Given the description of an element on the screen output the (x, y) to click on. 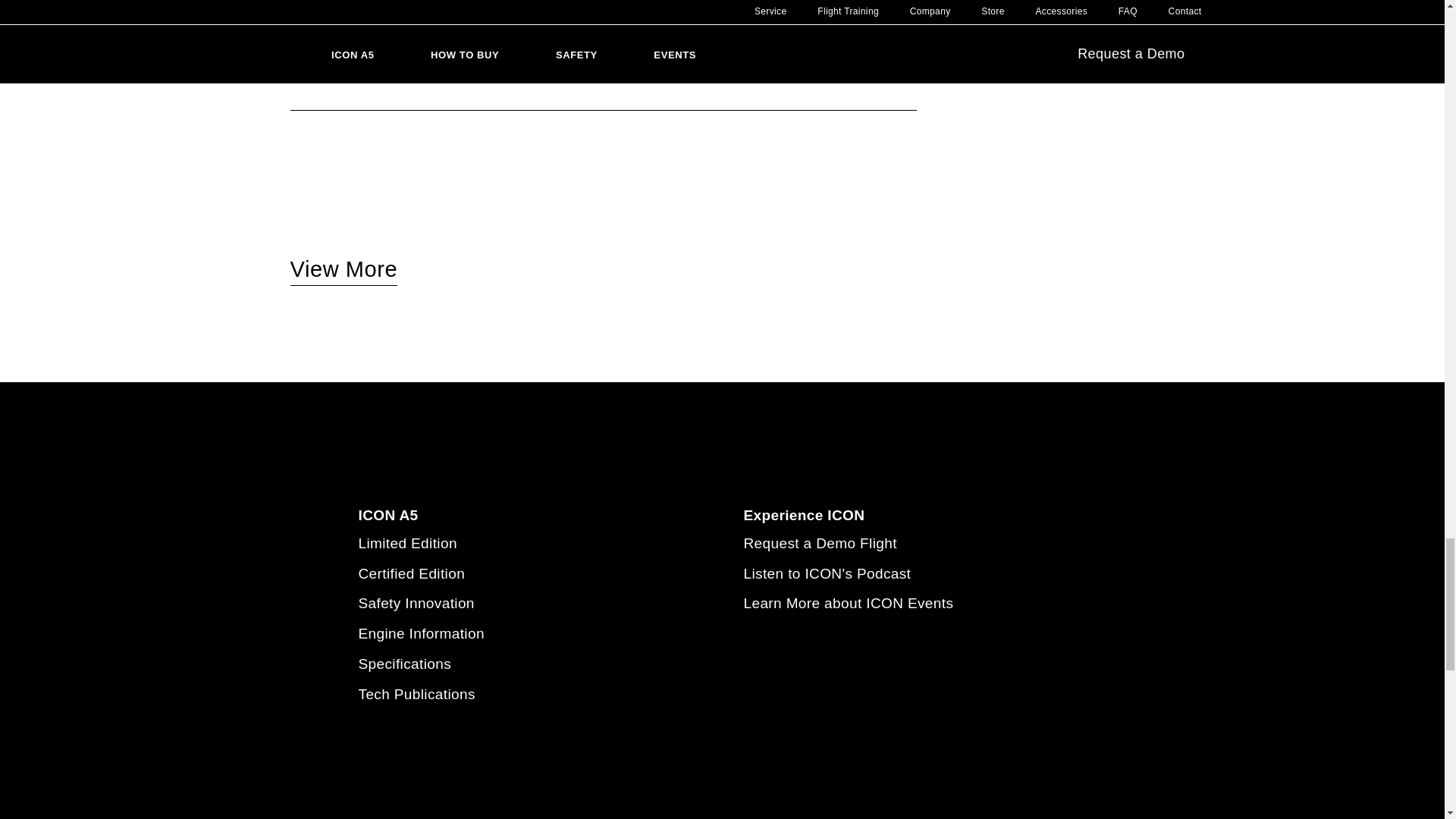
View More (343, 271)
